Given the description of an element on the screen output the (x, y) to click on. 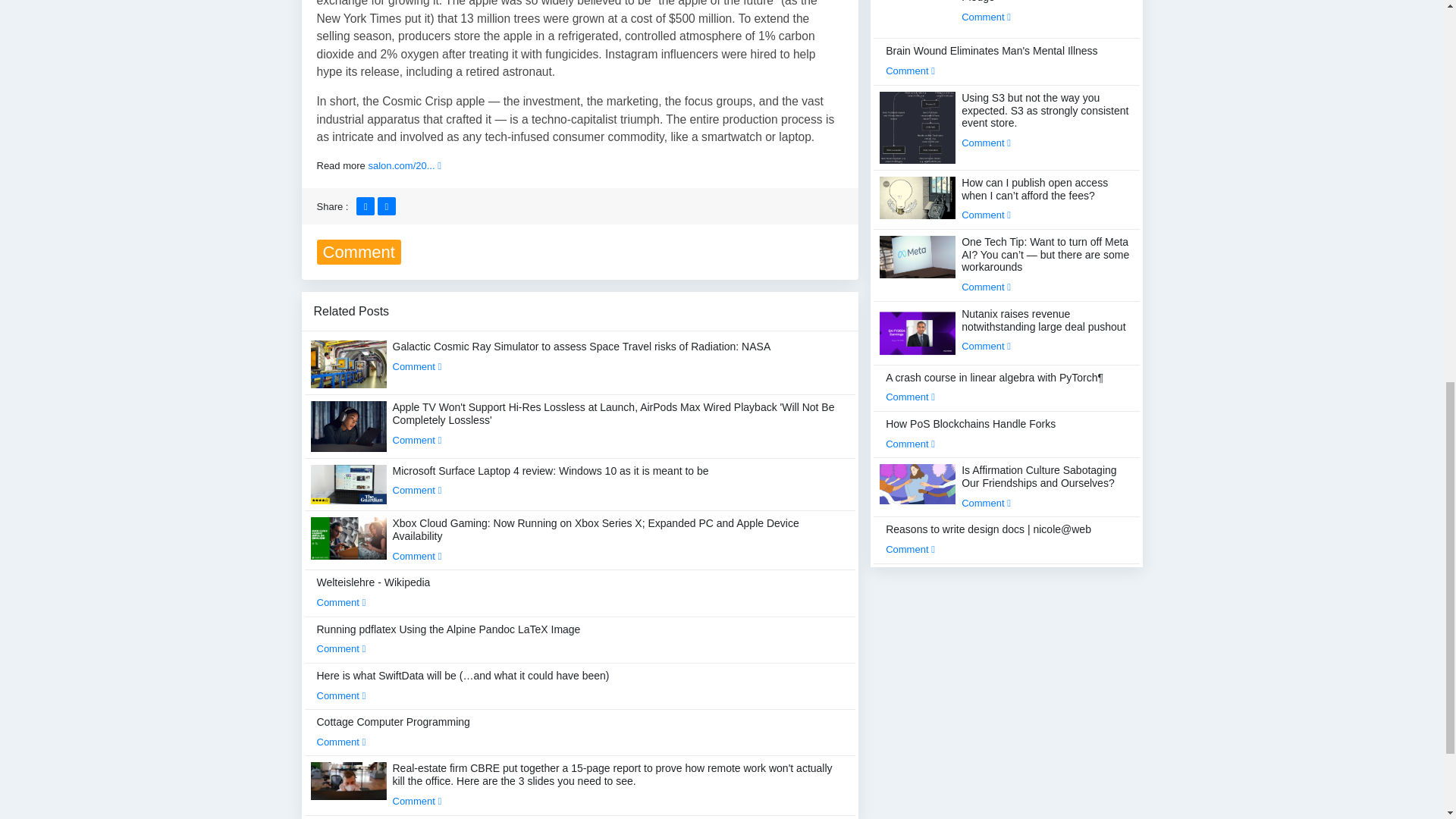
Welteislehre - Wikipedia (373, 592)
Comment (341, 602)
Comment (341, 648)
Running pdflatex Using the Alpine Pandoc LaTeX Image (448, 639)
Comment (417, 490)
Comment (417, 555)
Comment (417, 366)
